Given the description of an element on the screen output the (x, y) to click on. 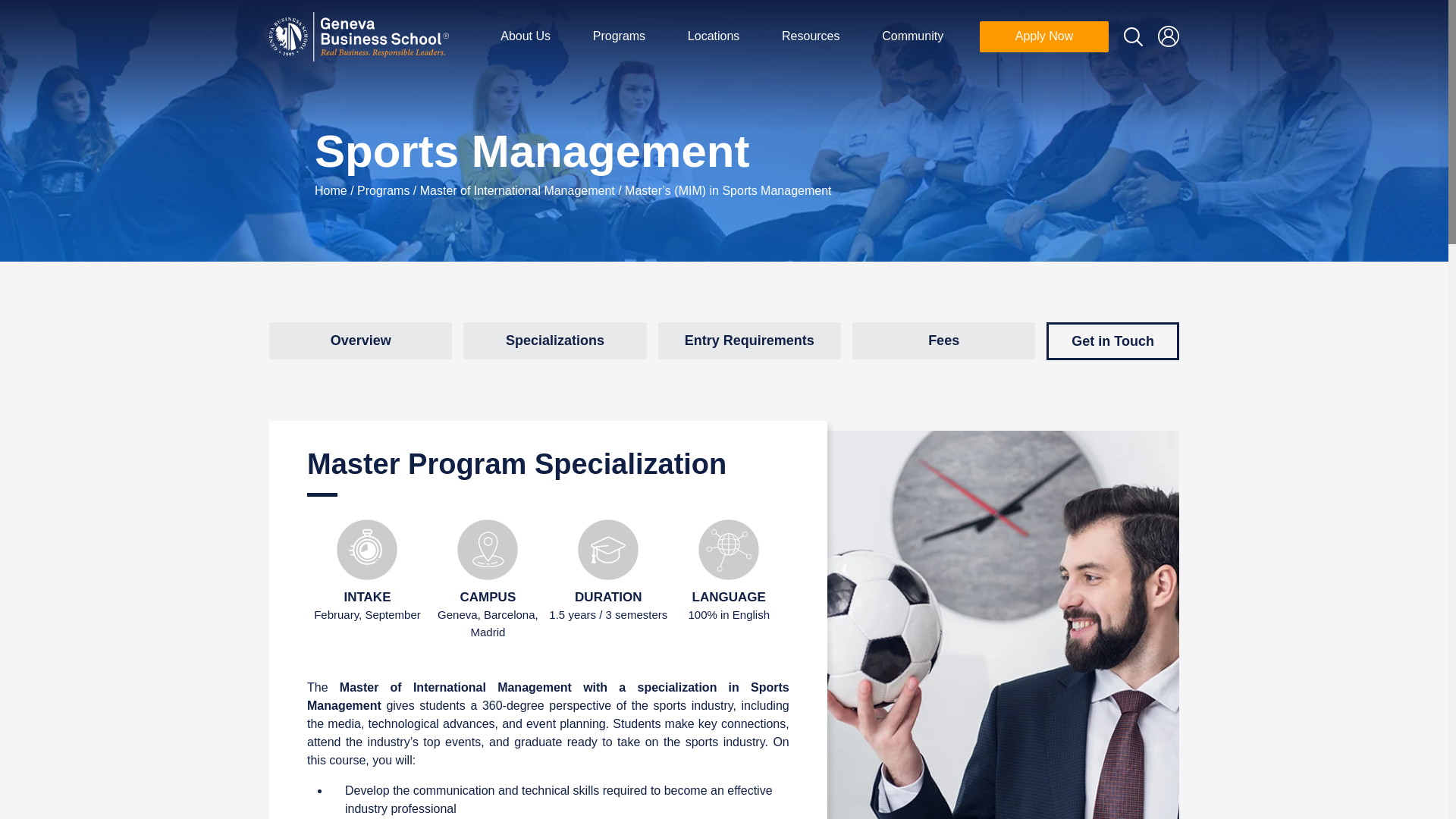
Locations (713, 36)
Resources (810, 36)
Programs (619, 36)
About Us (525, 36)
Community (911, 36)
Extranet Login (1168, 35)
Apply Now (1043, 36)
